Given the description of an element on the screen output the (x, y) to click on. 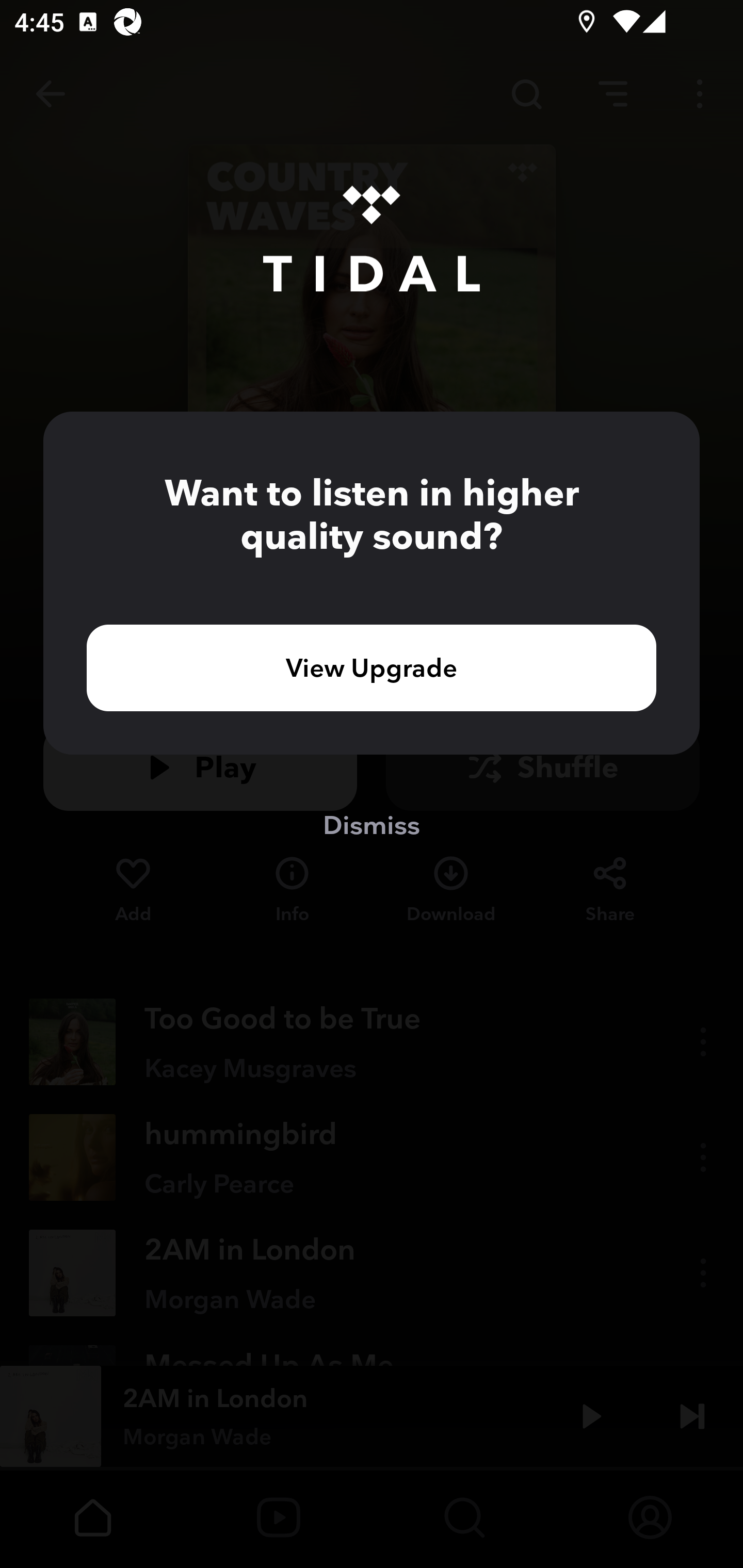
View Upgrade (371, 667)
Dismiss (371, 824)
